Given the description of an element on the screen output the (x, y) to click on. 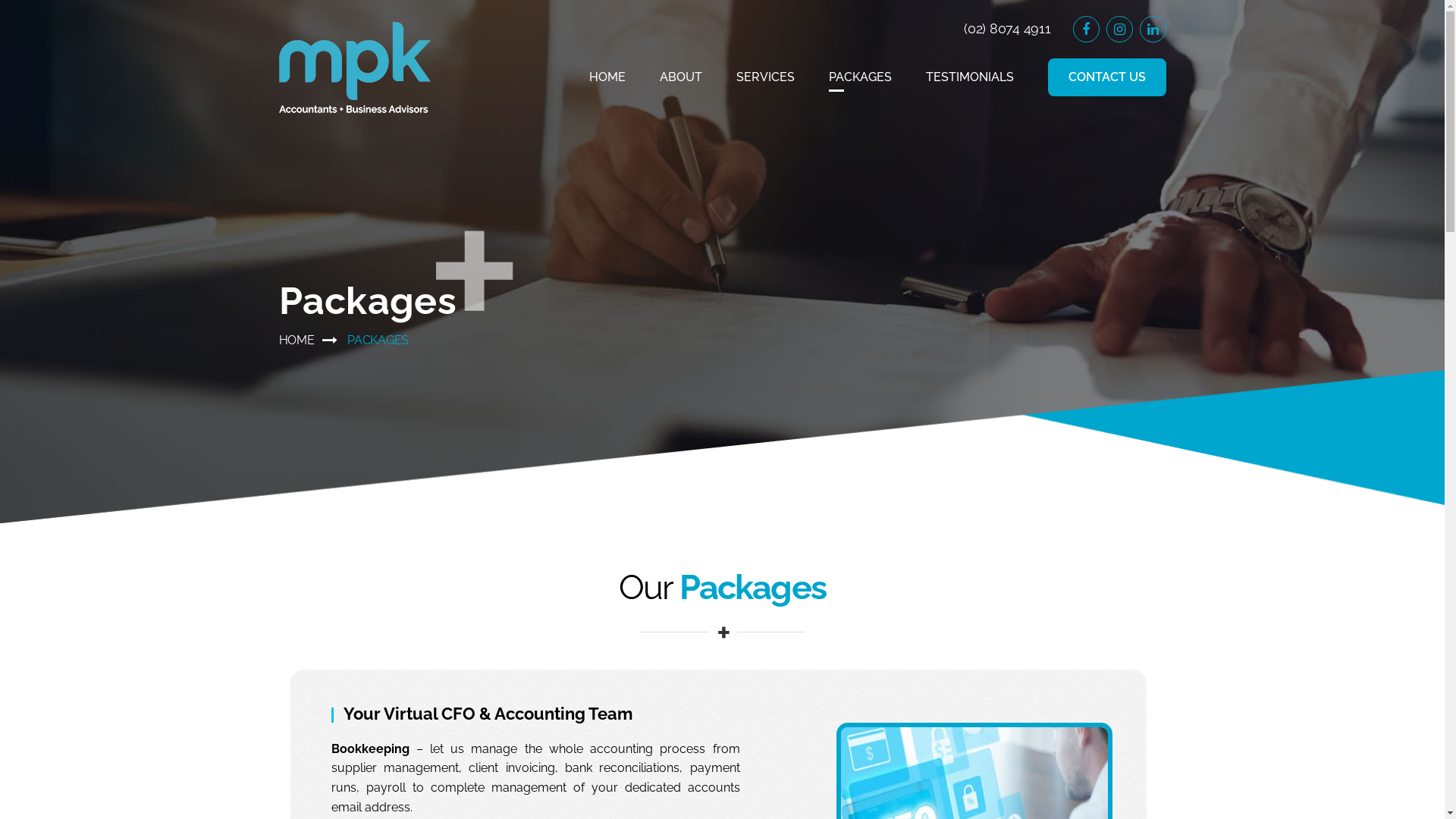
CONTACT US Element type: text (1107, 77)
TESTIMONIALS Element type: text (969, 76)
HOME Element type: text (606, 76)
ABOUT Element type: text (680, 76)
SERVICES Element type: text (764, 76)
PACKAGES Element type: text (859, 76)
HOME Element type: text (296, 339)
(02) 8074 4911 Element type: text (1006, 27)
